Given the description of an element on the screen output the (x, y) to click on. 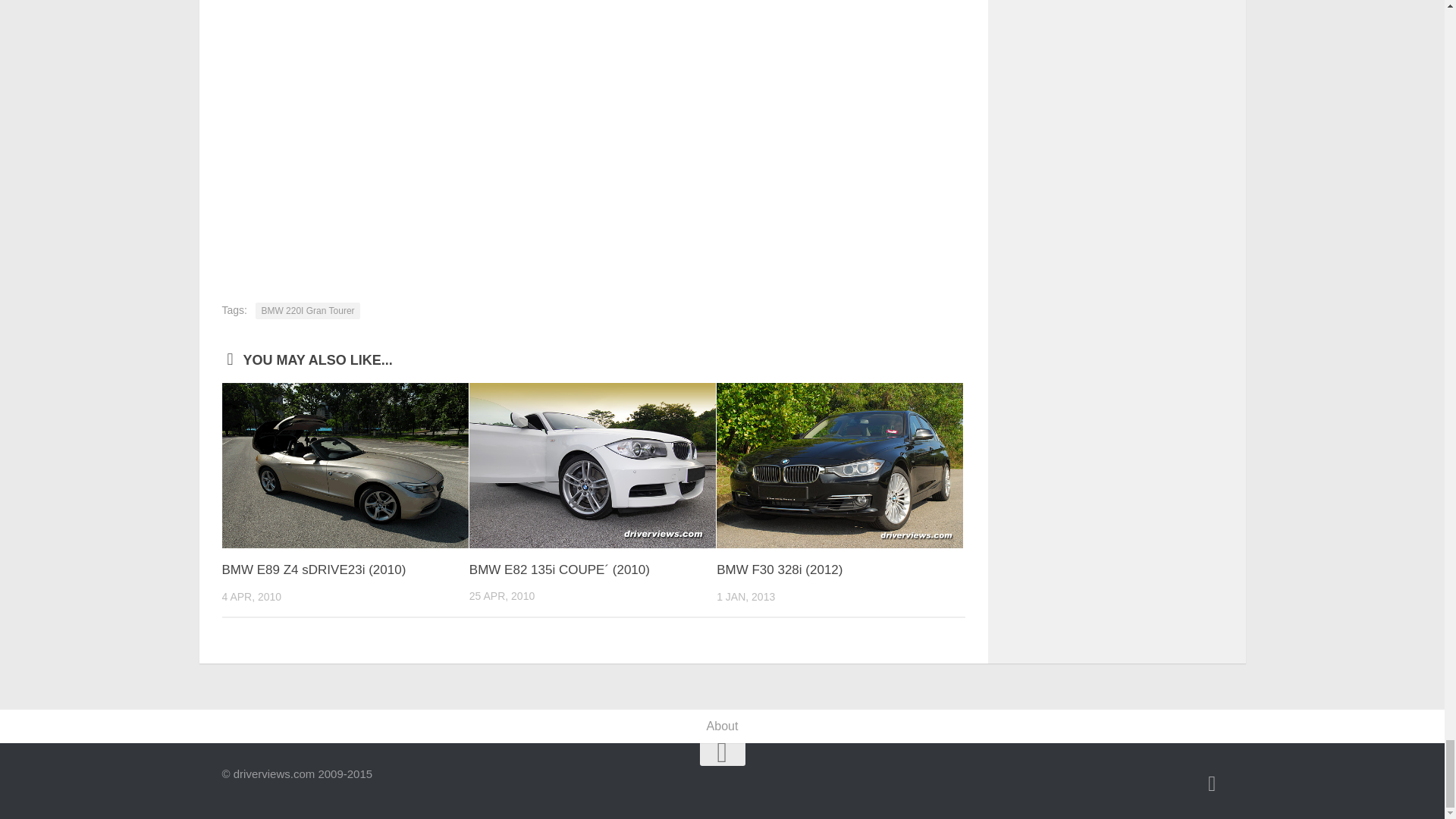
About (722, 726)
BMW 220I Gran Tourer (307, 310)
